Given the description of an element on the screen output the (x, y) to click on. 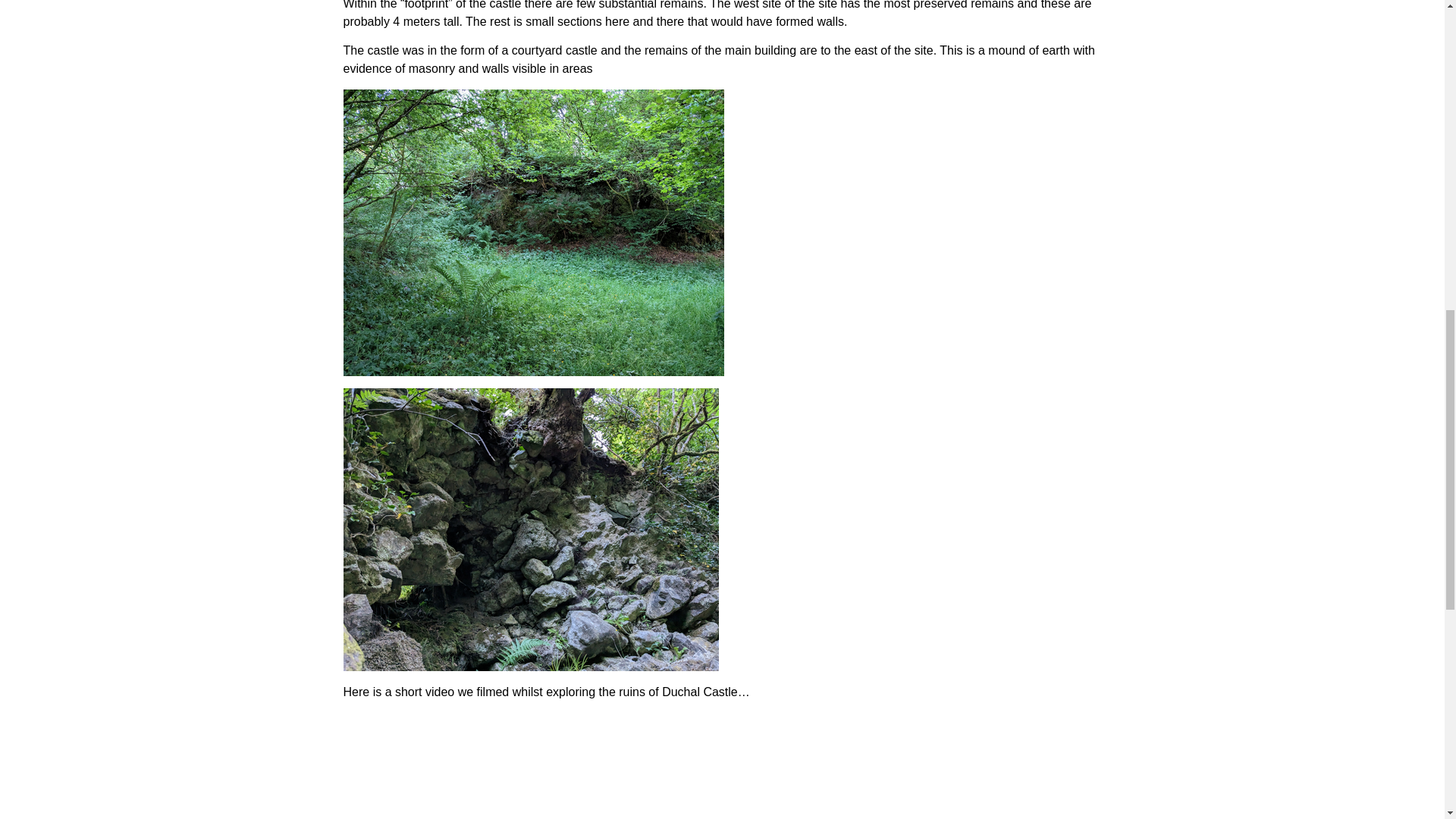
Duchal Castle (721, 765)
